Given the description of an element on the screen output the (x, y) to click on. 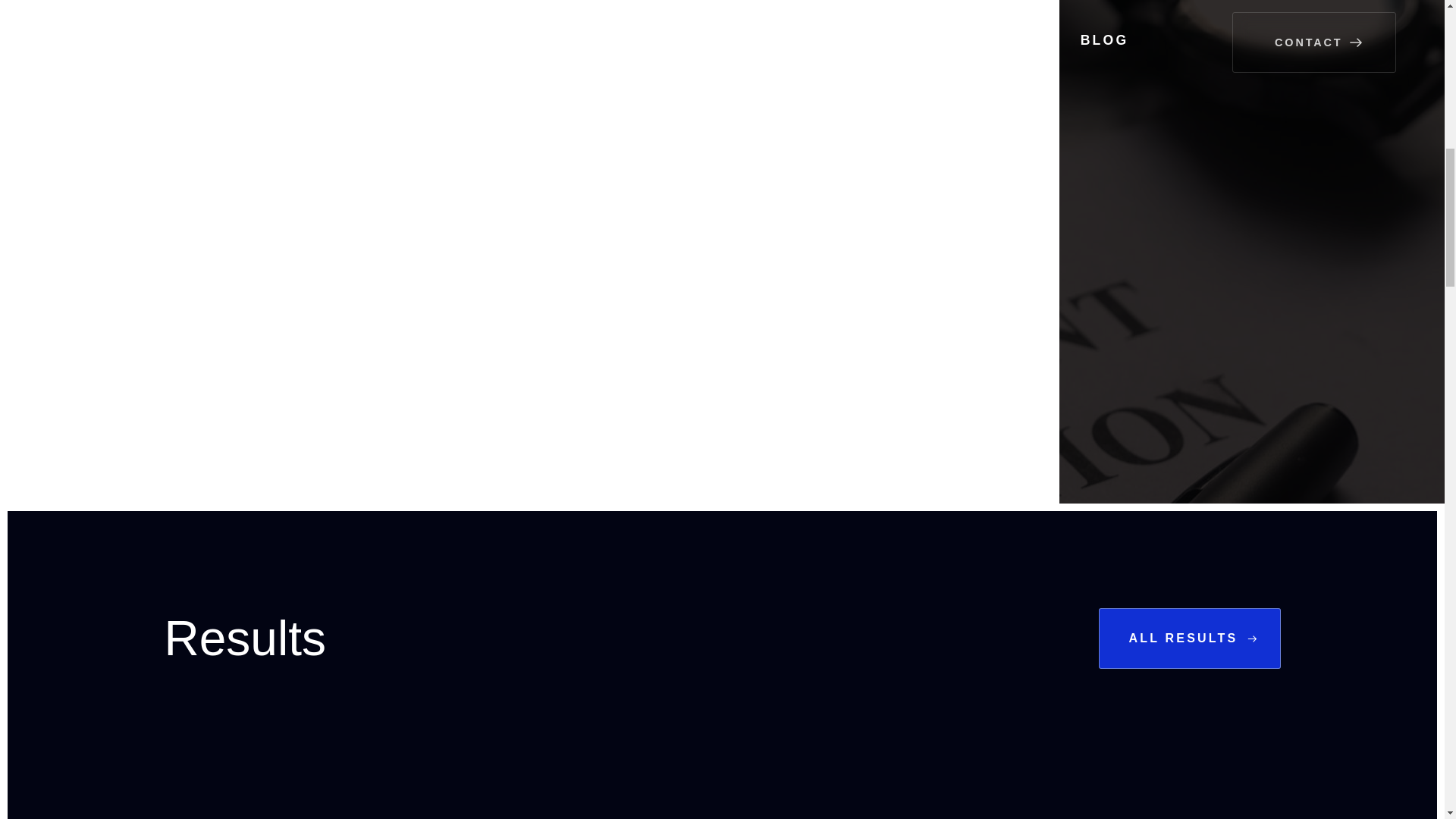
ALL RESULTS (1188, 638)
